Given the description of an element on the screen output the (x, y) to click on. 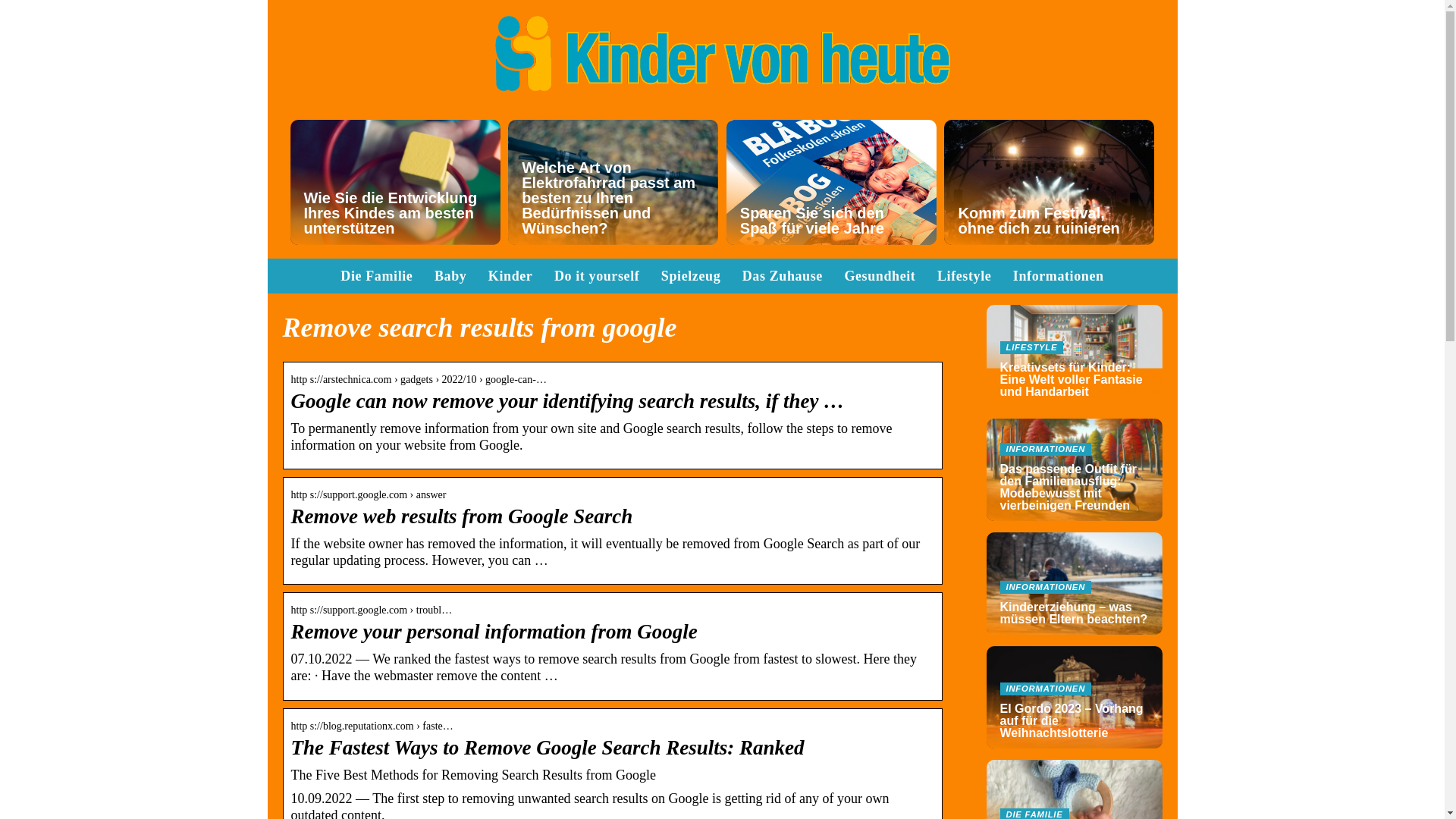
Komm zum Festival, ohne dich zu ruinieren (1048, 181)
Do it yourself (596, 275)
Lifestyle (964, 275)
Spielzeug (690, 275)
Kinder (509, 275)
Das Zuhause (782, 275)
Baby (449, 275)
Informationen (1058, 275)
Die Familie (376, 275)
Gesundheit (879, 275)
